Given the description of an element on the screen output the (x, y) to click on. 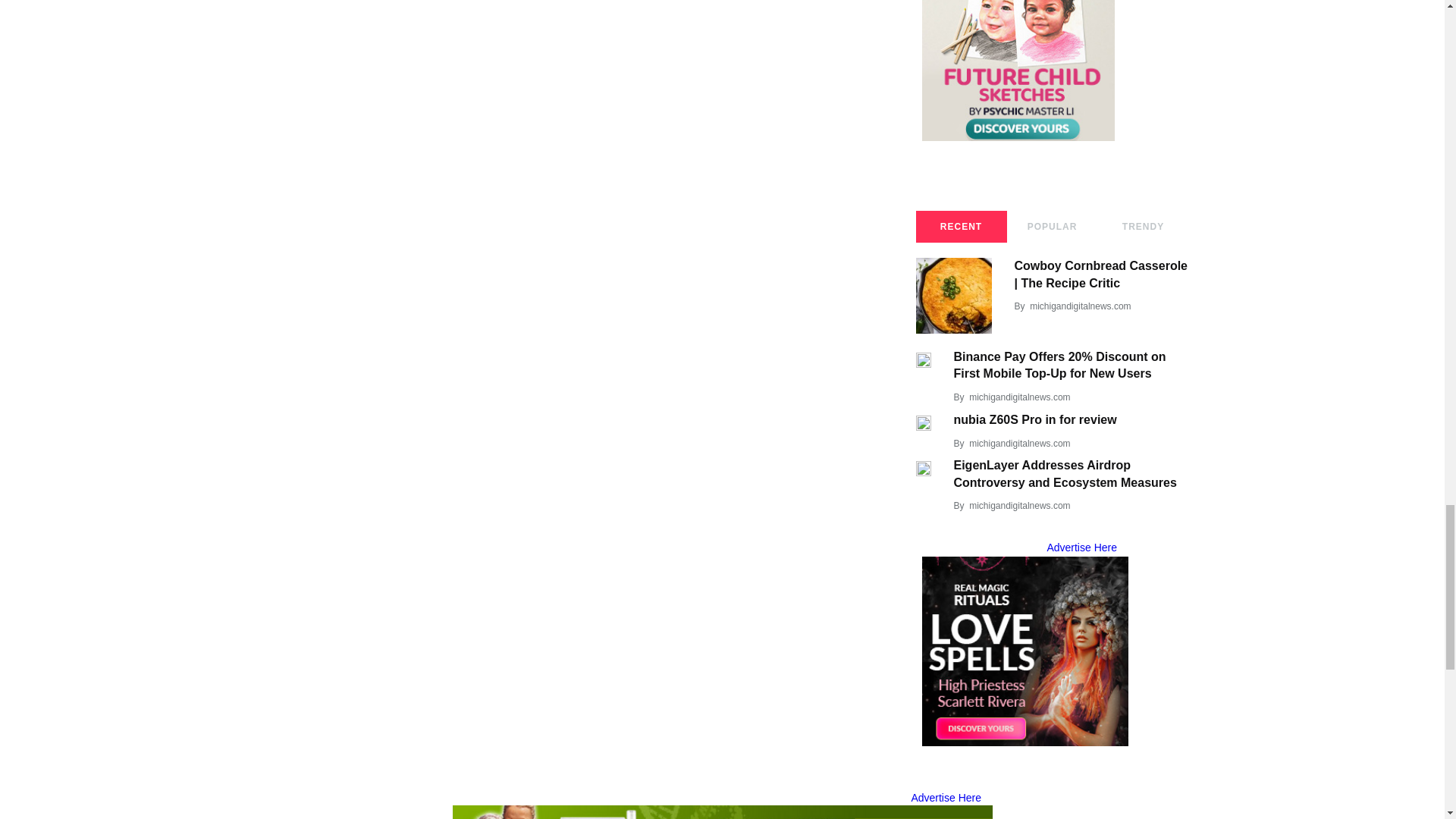
Posts by michigandigitalnews.com (1019, 443)
Posts by michigandigitalnews.com (1080, 306)
Posts by michigandigitalnews.com (1019, 505)
Posts by michigandigitalnews.com (1019, 397)
